Given the description of an element on the screen output the (x, y) to click on. 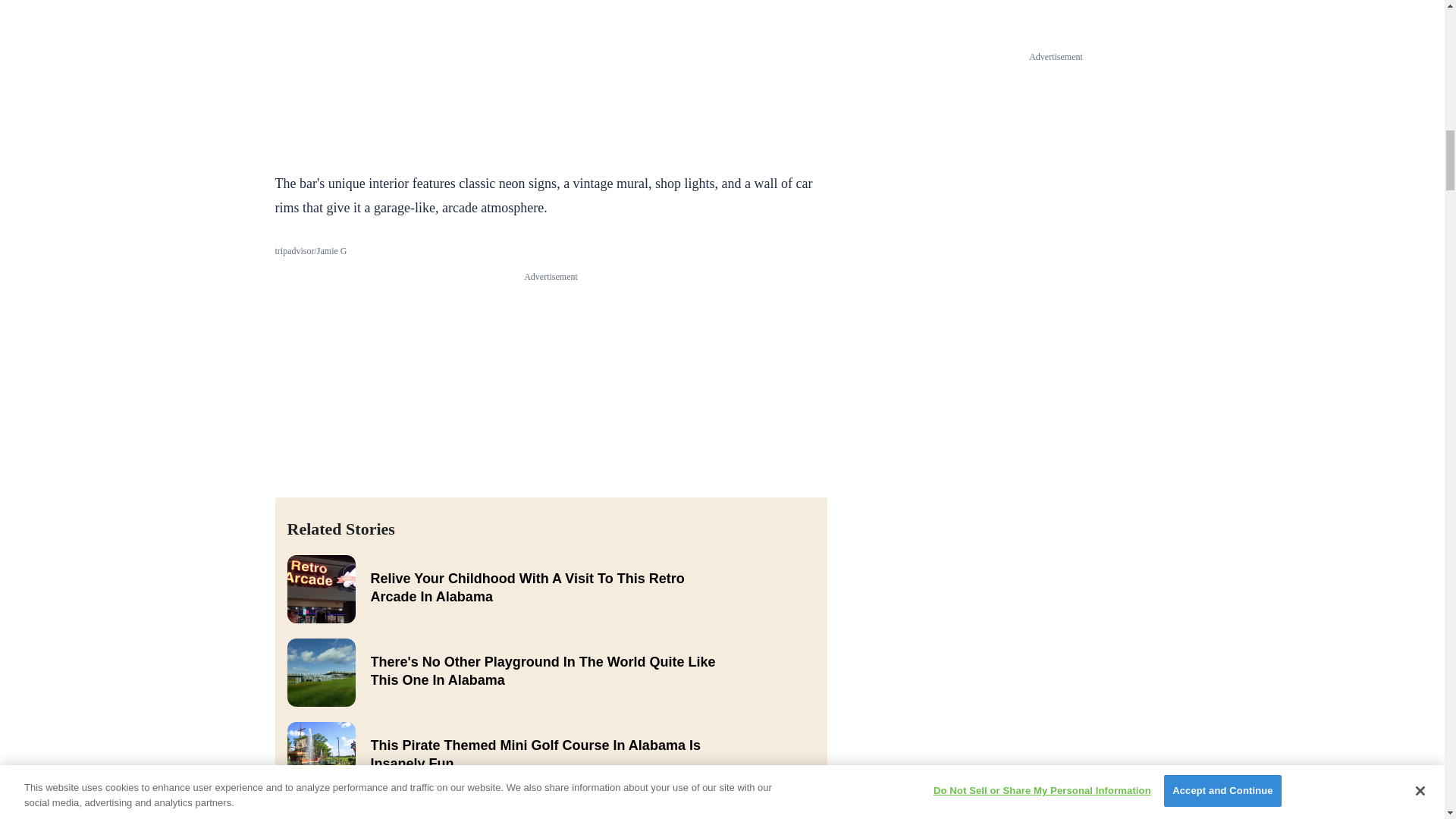
3rd party ad content (549, 76)
3rd party ad content (549, 378)
